Given the description of an element on the screen output the (x, y) to click on. 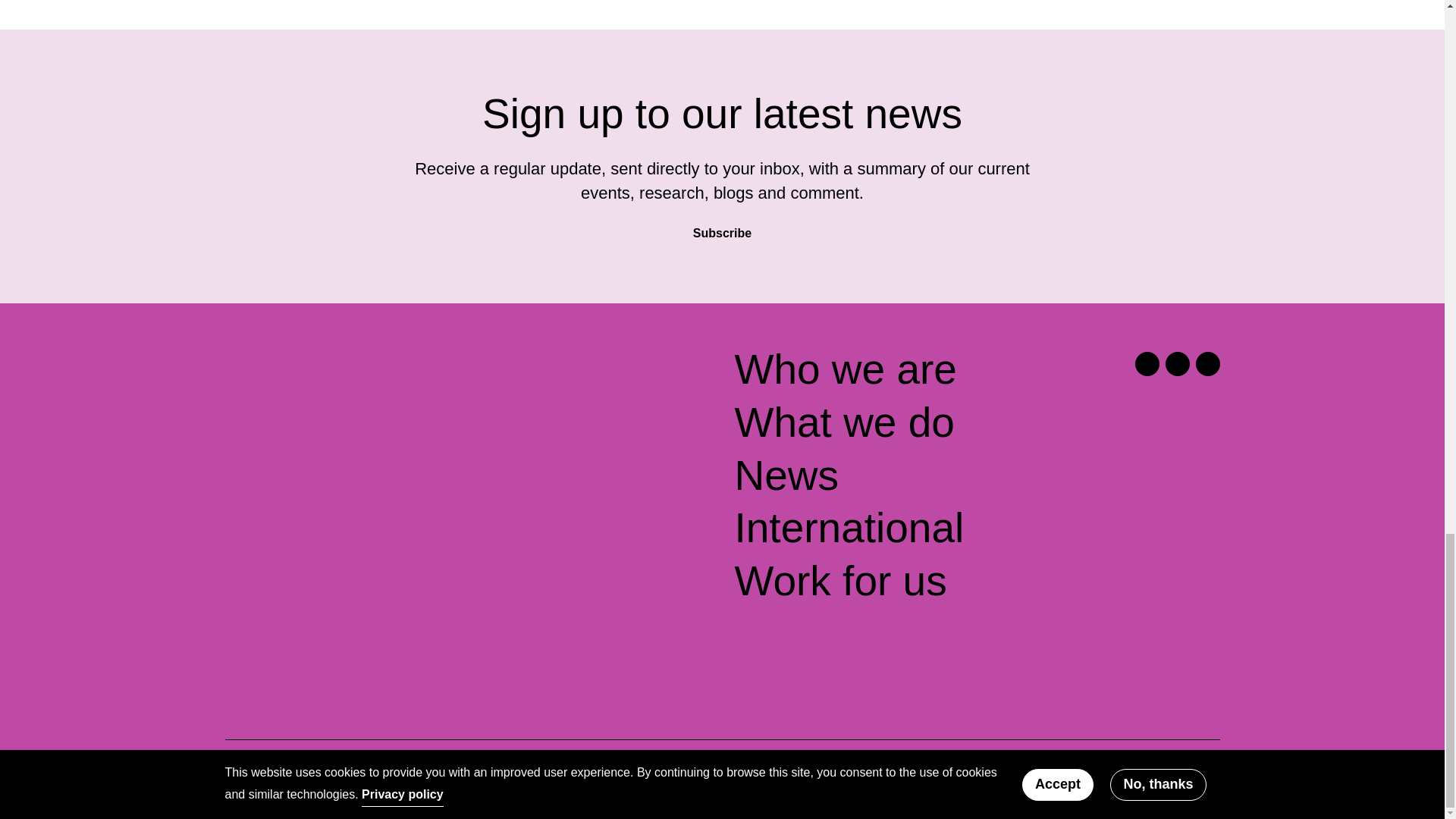
Twitter (1146, 363)
Return to the homepage (344, 376)
Youtube (1207, 363)
Linkedin (1176, 363)
